Given the description of an element on the screen output the (x, y) to click on. 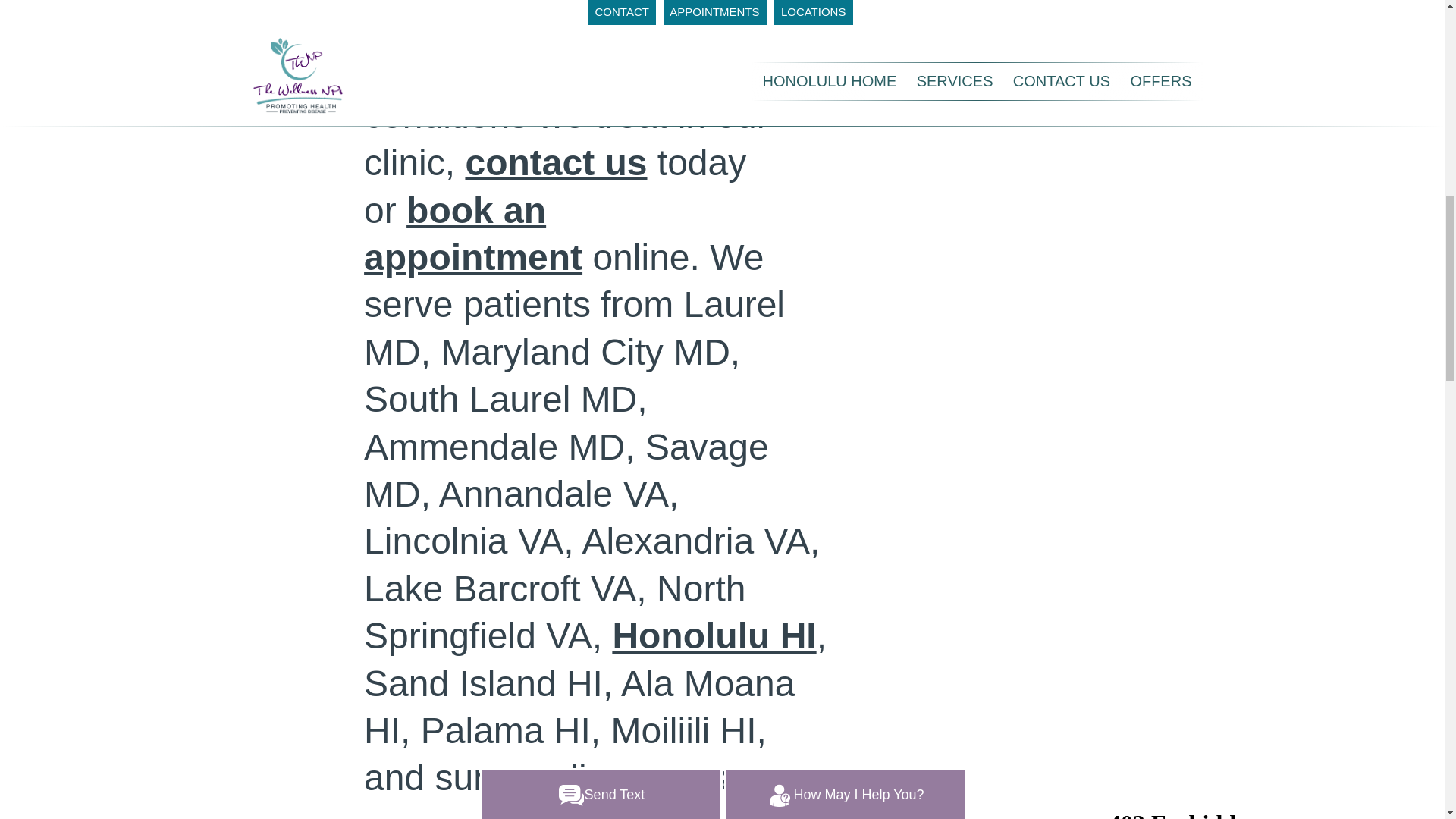
contact us (555, 162)
book an appointment (473, 233)
Honolulu HI (713, 635)
